Given the description of an element on the screen output the (x, y) to click on. 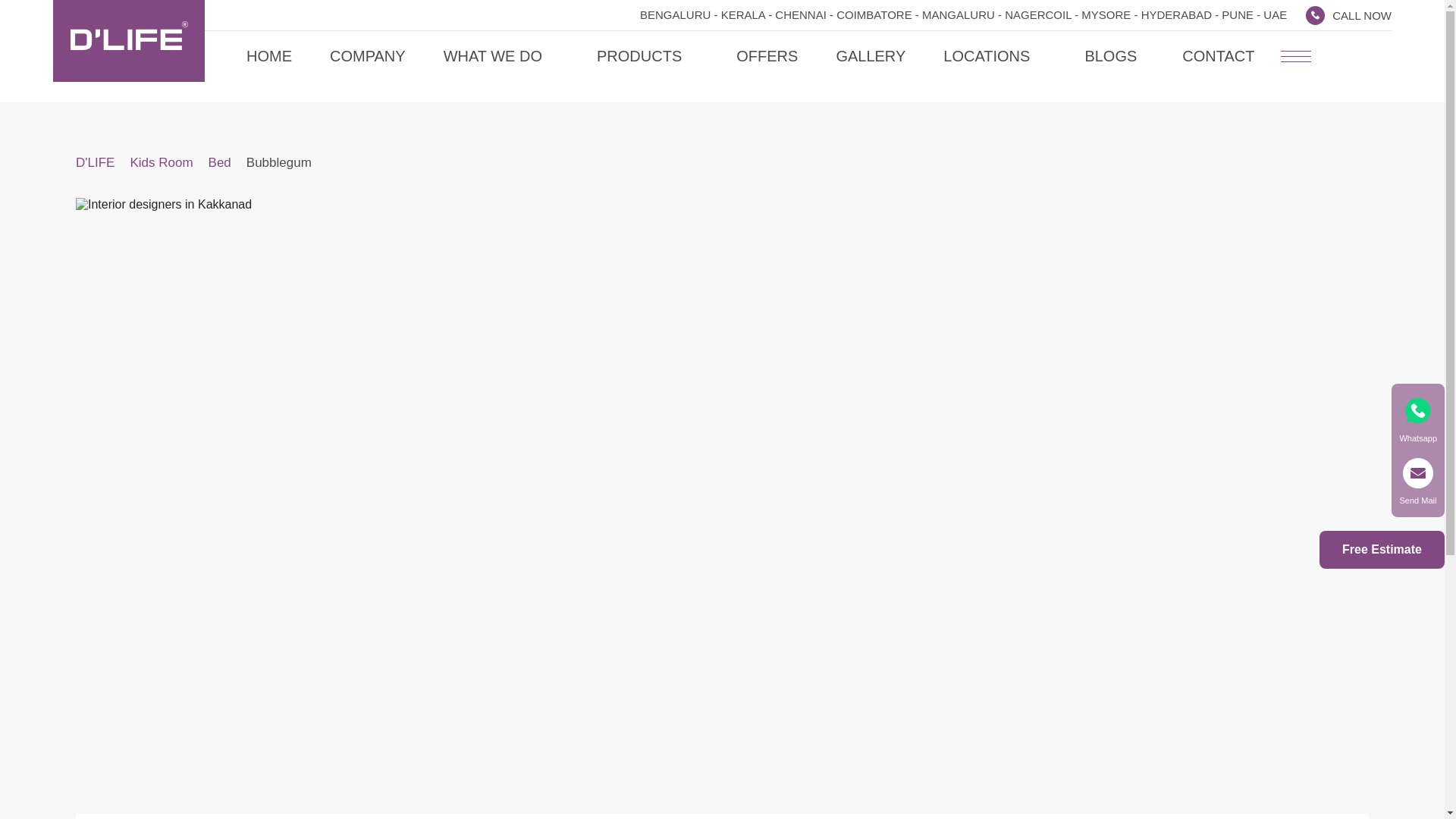
LOCATIONS (994, 56)
PRODUCTS (647, 56)
OFFERS (766, 56)
CALL NOW (1348, 15)
GALLERY (870, 56)
HOME (269, 56)
WHAT WE DO (501, 56)
COMPANY (368, 56)
